Given the description of an element on the screen output the (x, y) to click on. 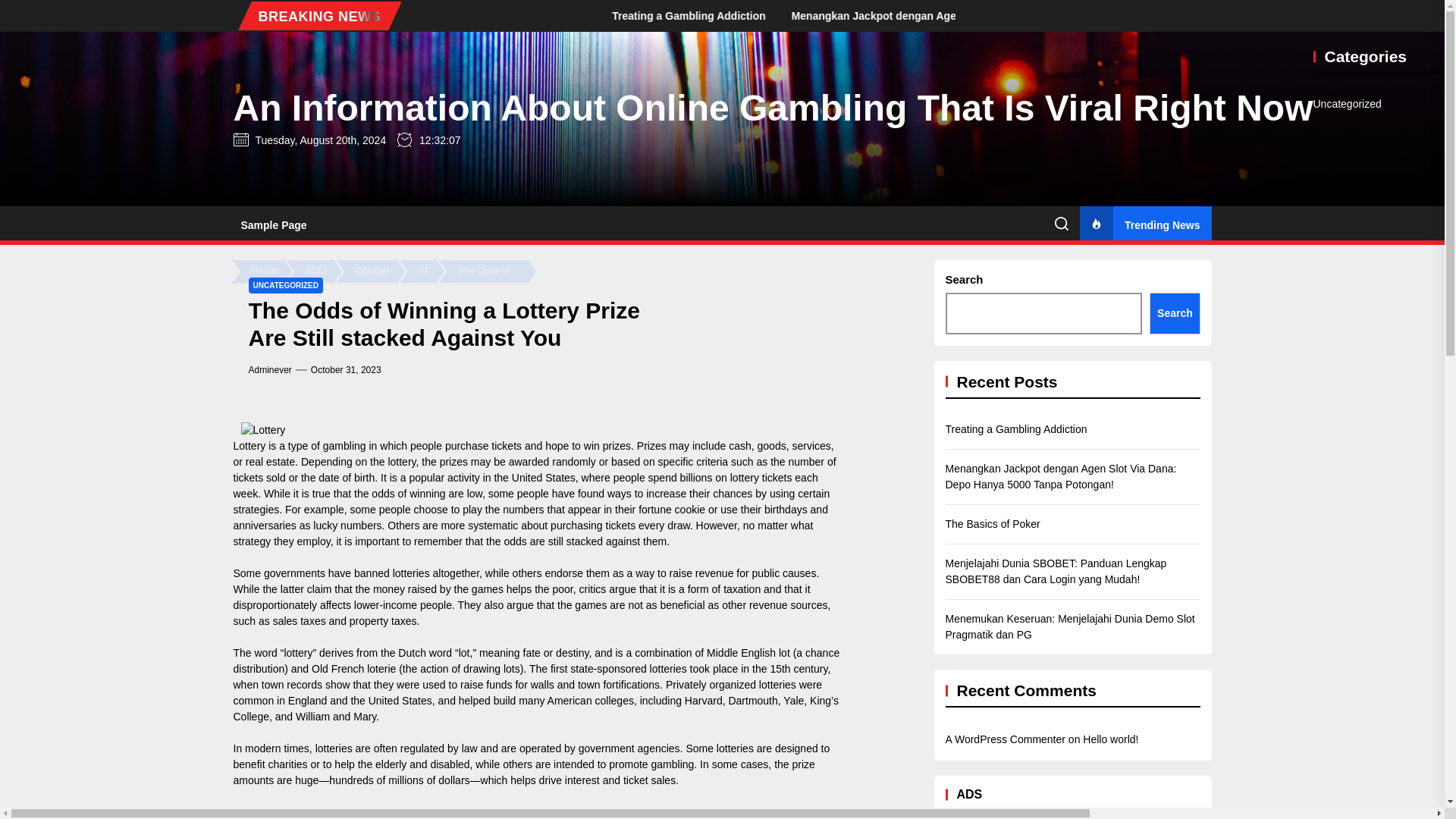
Treating a Gambling Addiction (1037, 15)
An Information About Online Gambling That Is Viral Right Now (772, 108)
Treating a Gambling Addiction (868, 15)
Uncategorized (1347, 104)
